Given the description of an element on the screen output the (x, y) to click on. 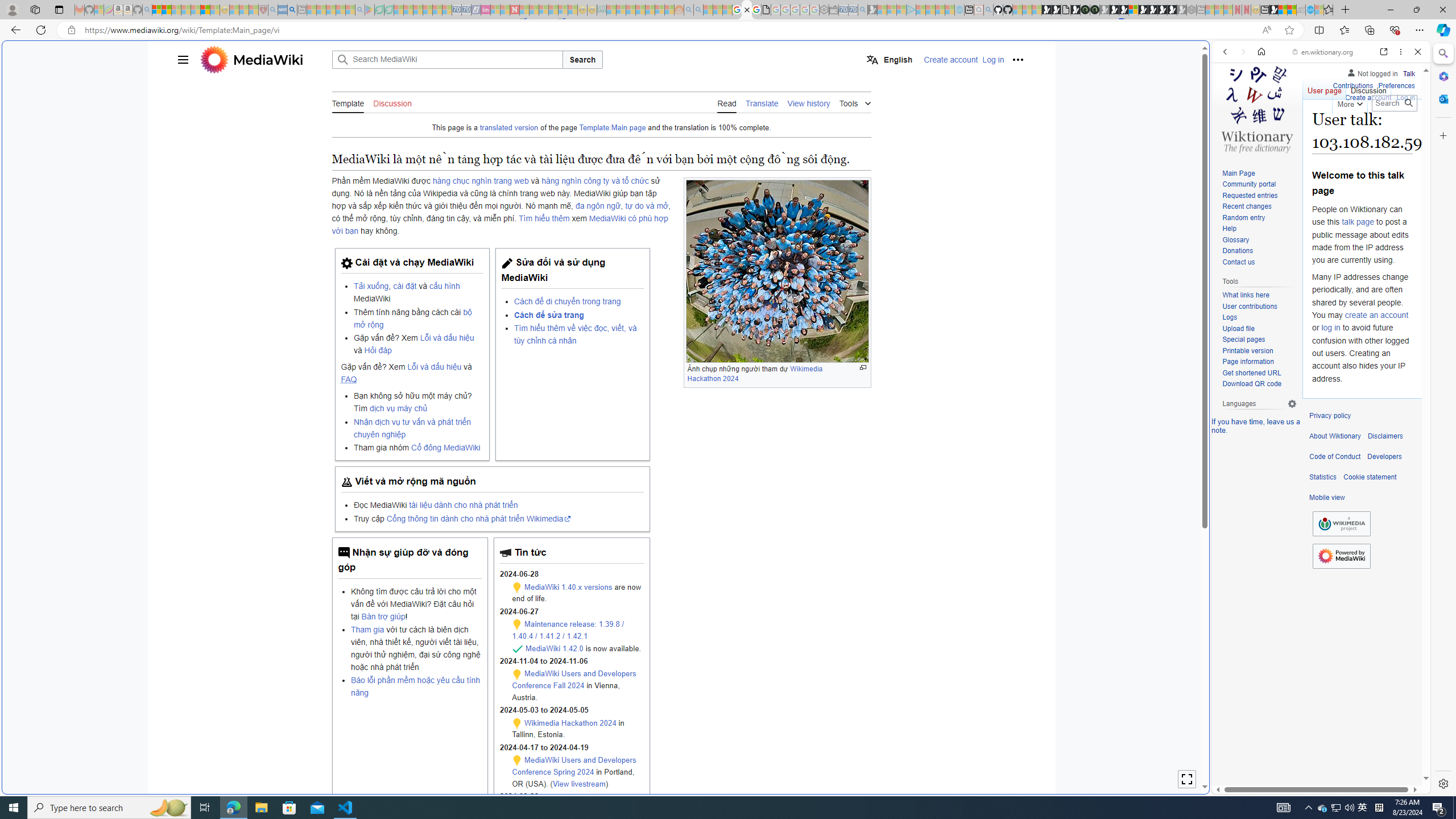
talk page (1357, 221)
What links here (1259, 295)
Read (726, 102)
Page information (1247, 361)
log in (1330, 327)
Donations (1237, 250)
